Given the description of an element on the screen output the (x, y) to click on. 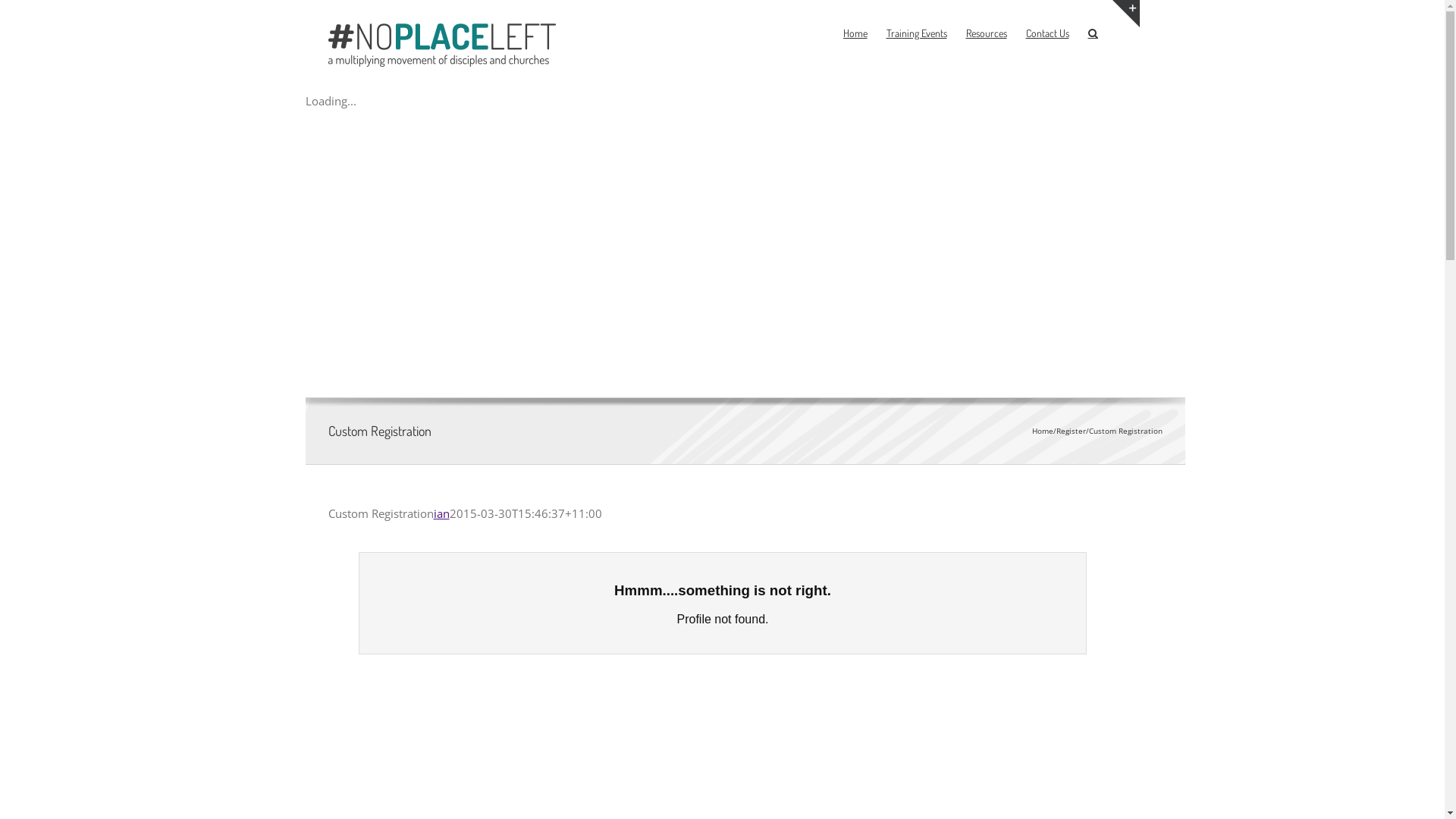
Resources Element type: text (986, 32)
Contact Us Element type: text (1046, 32)
ian Element type: text (441, 512)
Home Element type: text (1041, 430)
Search Element type: hover (1092, 32)
Toggle Sliding Bar Area Element type: text (1125, 13)
Register Element type: text (1070, 430)
Home Element type: text (855, 32)
Training Events Element type: text (915, 32)
